Given the description of an element on the screen output the (x, y) to click on. 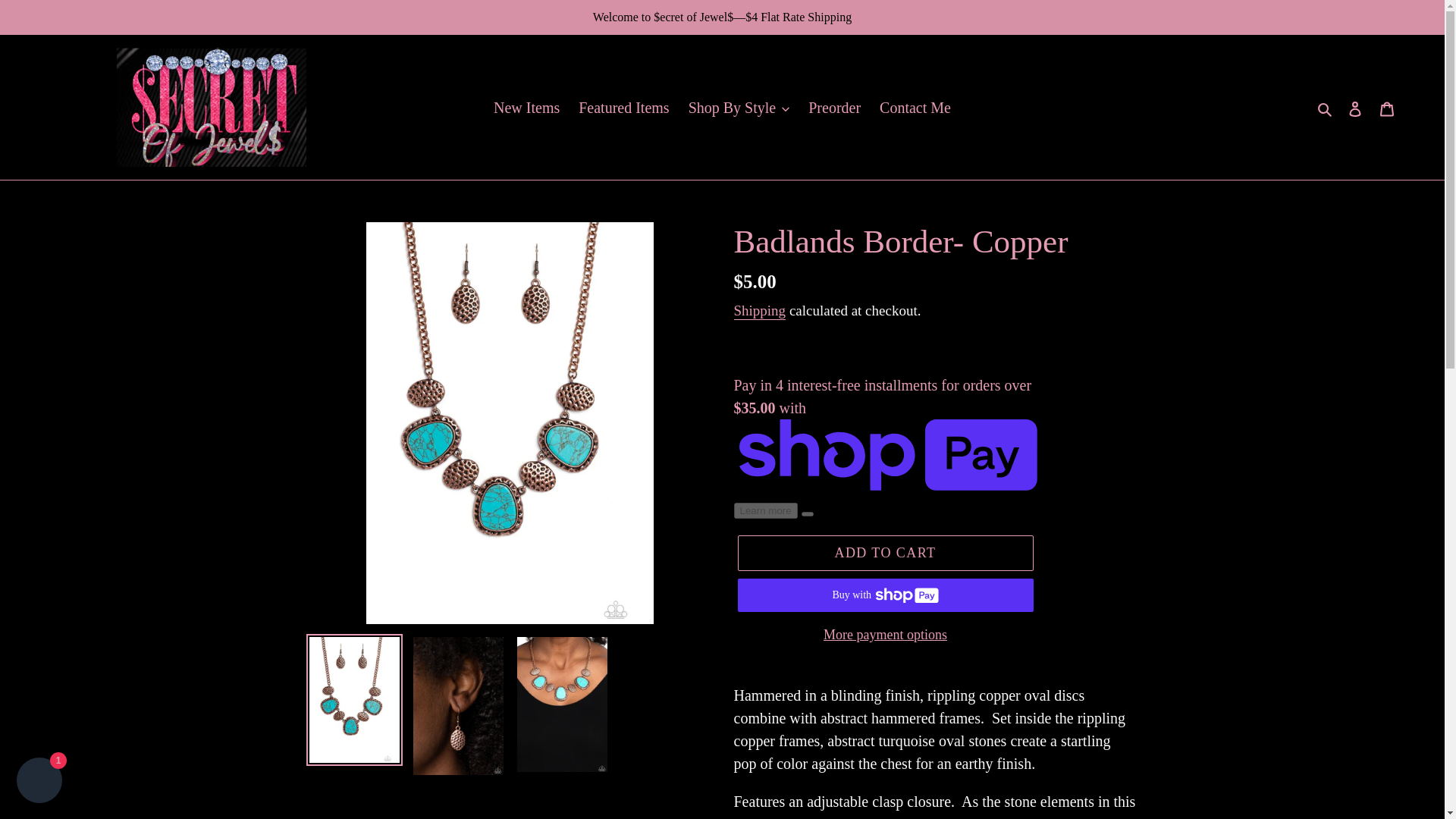
New Items (526, 107)
Shopify online store chat (38, 781)
Preorder (833, 107)
Featured Items (623, 107)
Shop By Style (739, 107)
Contact Me (915, 107)
Search (1326, 107)
